Given the description of an element on the screen output the (x, y) to click on. 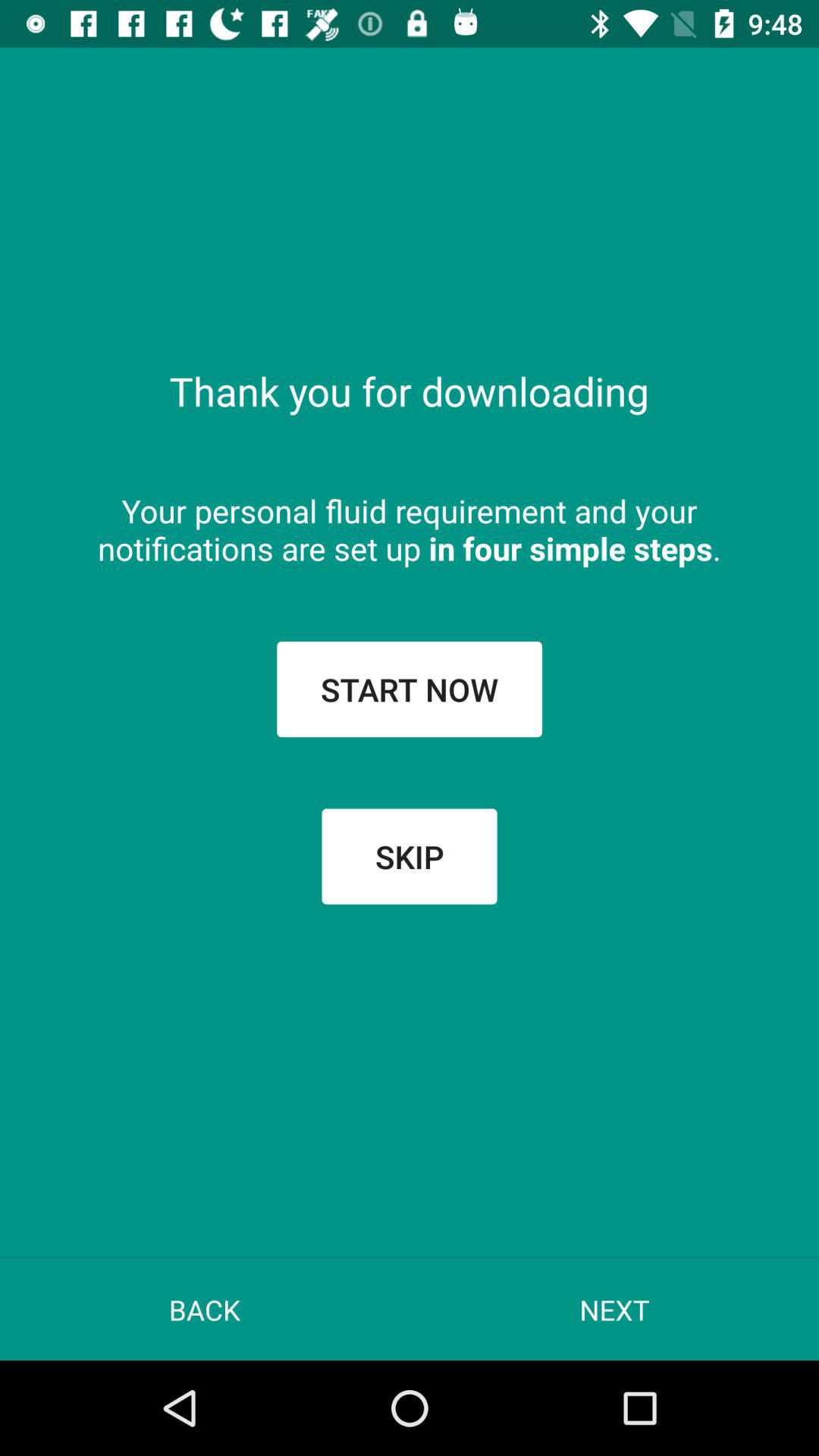
turn off item at the bottom right corner (614, 1309)
